Given the description of an element on the screen output the (x, y) to click on. 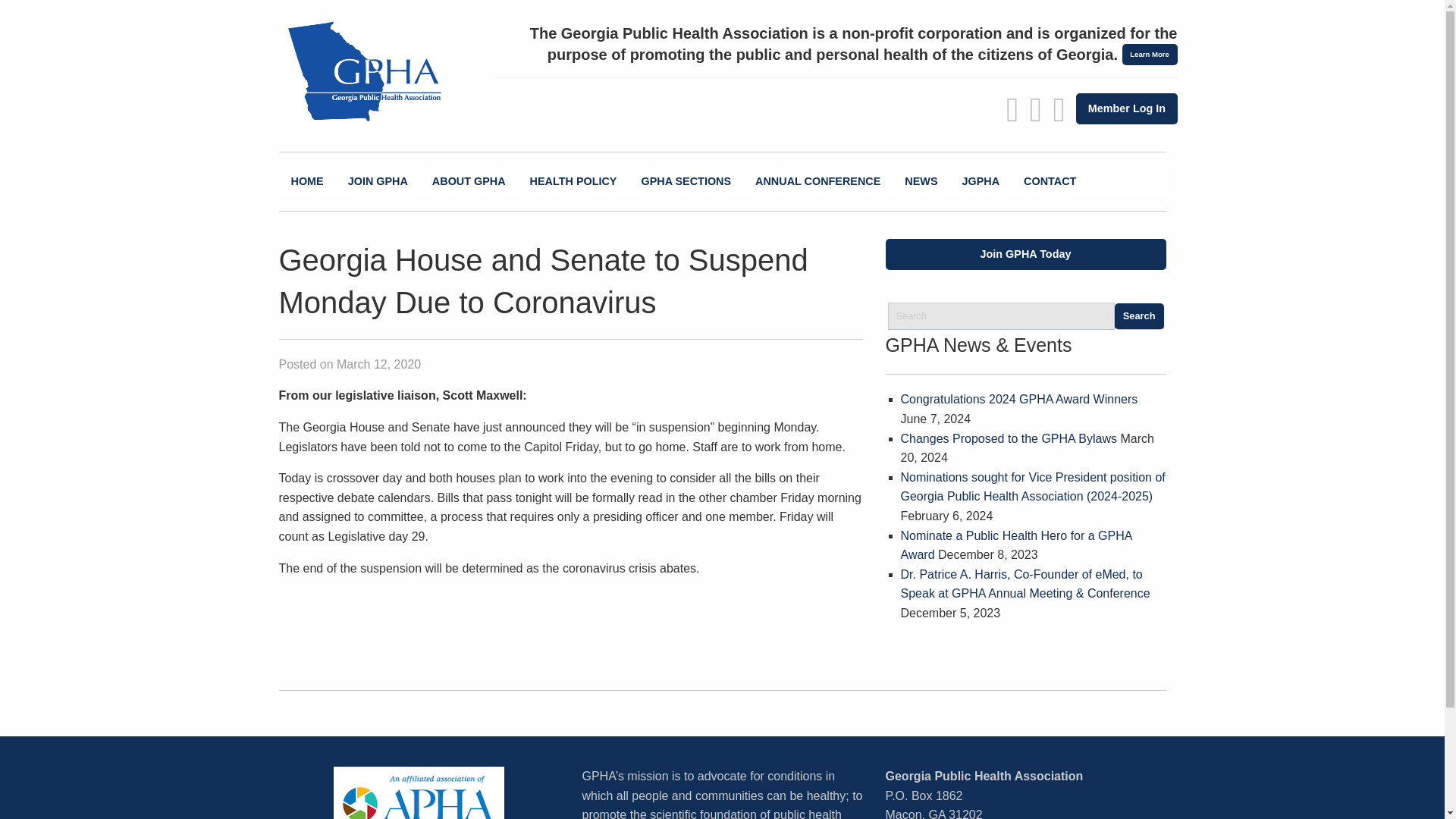
HEALTH POLICY (573, 181)
CONTACT (1049, 181)
Search (1139, 316)
JGPHA (980, 181)
HOME (307, 181)
Changes Proposed to the GPHA Bylaws (1009, 438)
JOIN GPHA (378, 181)
GPHA SECTIONS (685, 181)
ANNUAL CONFERENCE (817, 181)
ABOUT GPHA (469, 181)
